Given the description of an element on the screen output the (x, y) to click on. 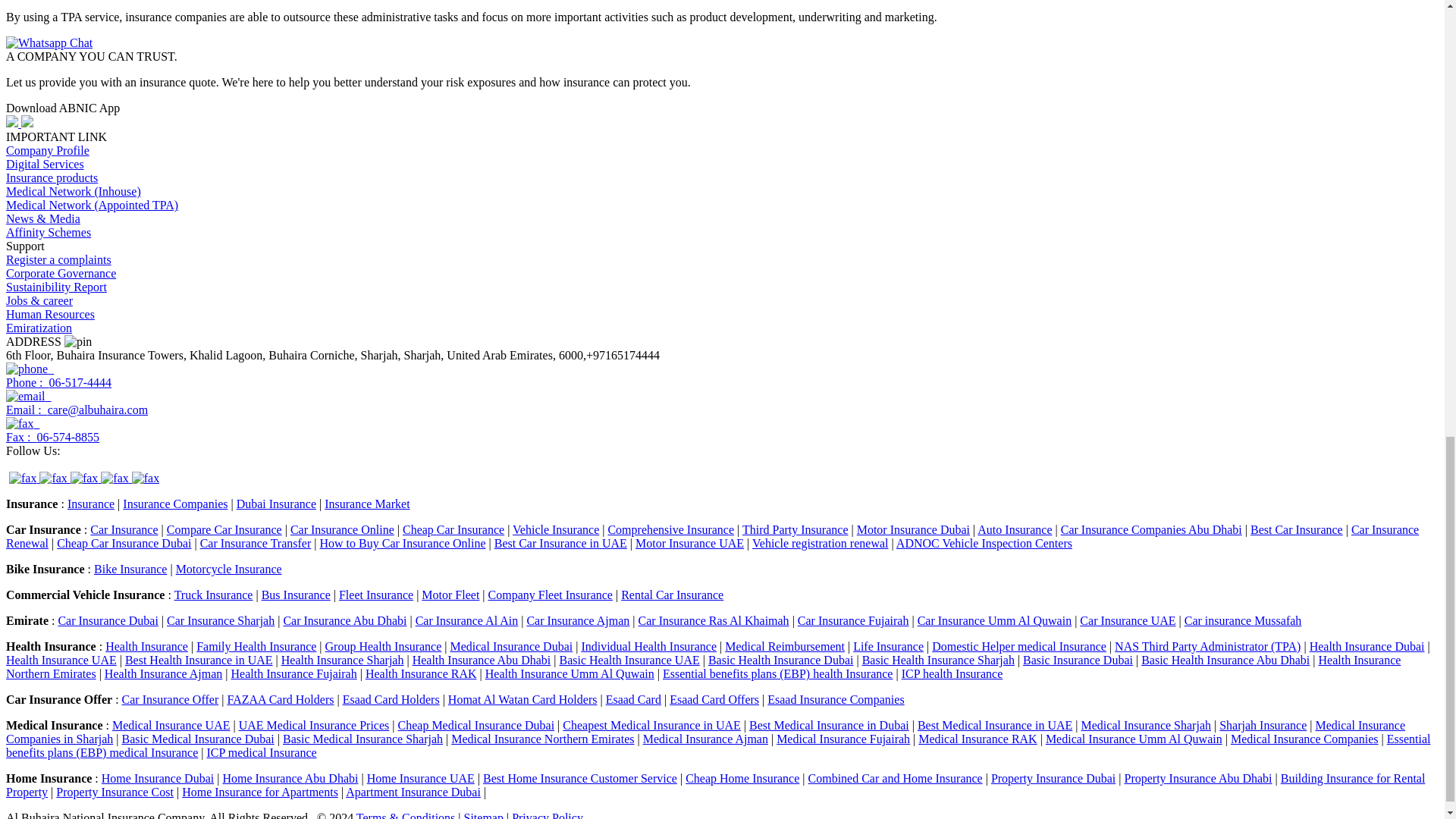
Facebook (23, 477)
Whatsapp (145, 477)
Instagram (115, 477)
Twitter (84, 477)
LinkedIn (54, 477)
